Given the description of an element on the screen output the (x, y) to click on. 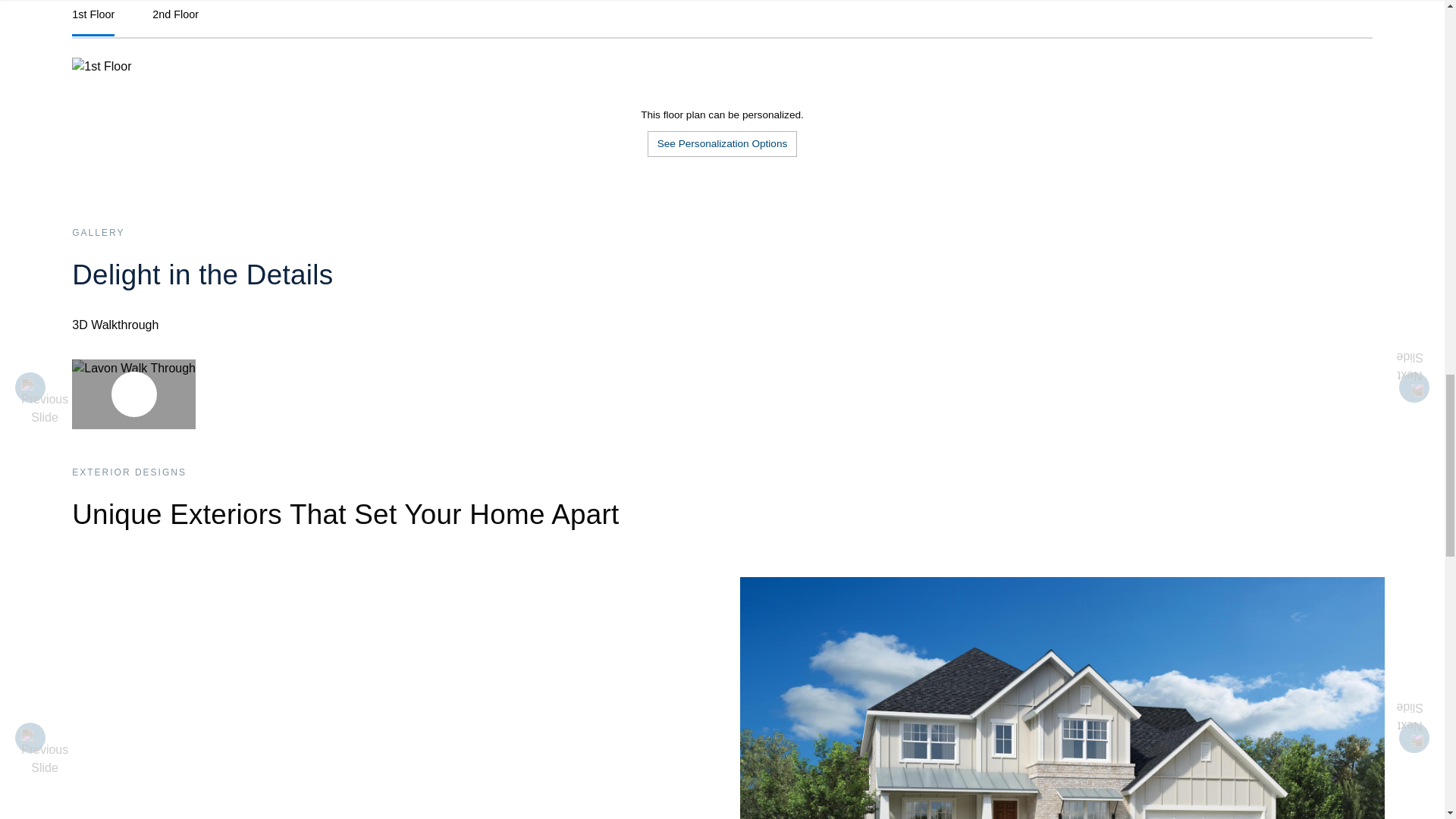
2nd Floor (175, 21)
1st Floor (93, 21)
See Personalization Options (722, 160)
See Personalization Options (722, 144)
